Given the description of an element on the screen output the (x, y) to click on. 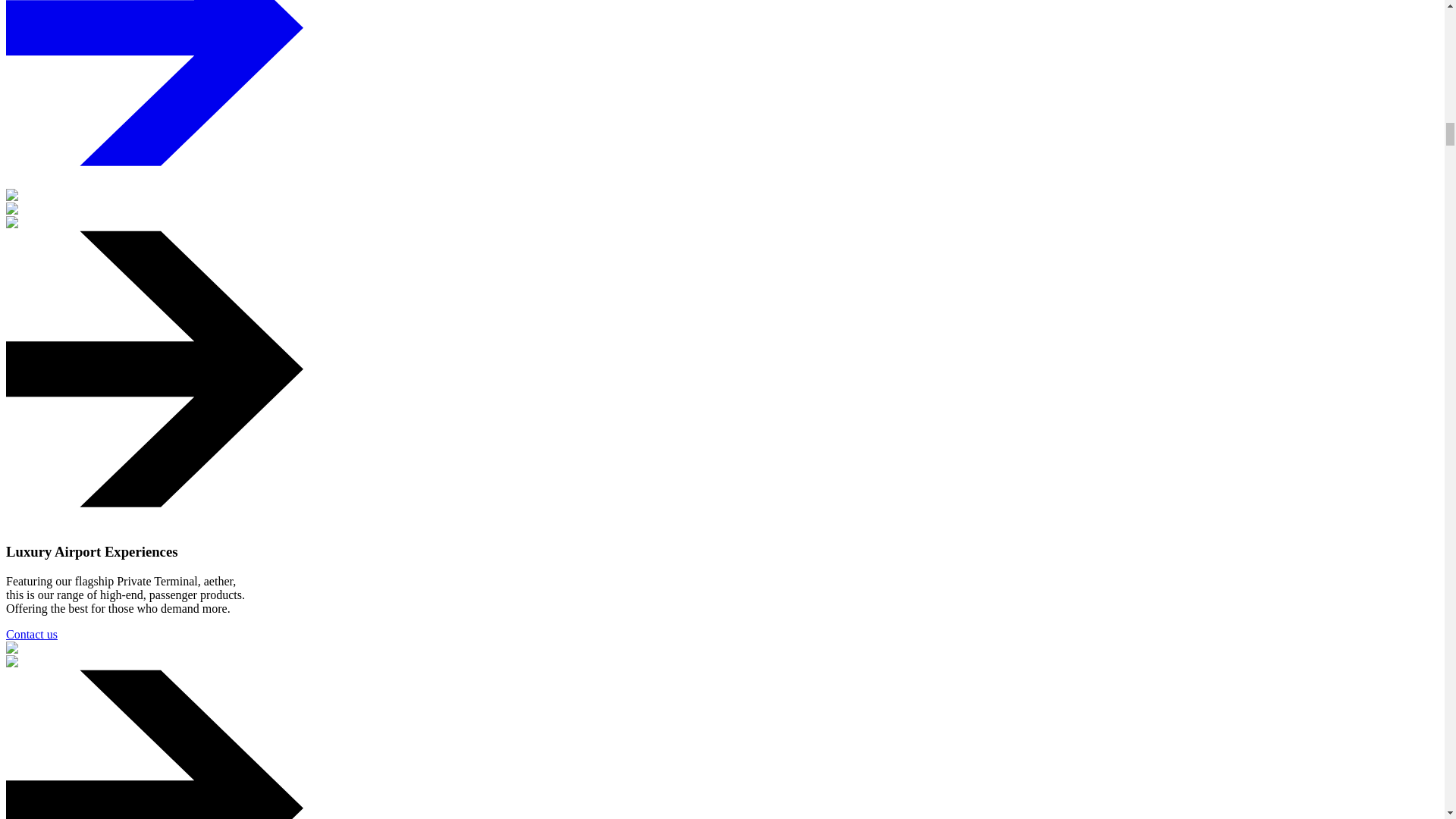
See our lounges (153, 94)
Contact us (153, 634)
